Given the description of an element on the screen output the (x, y) to click on. 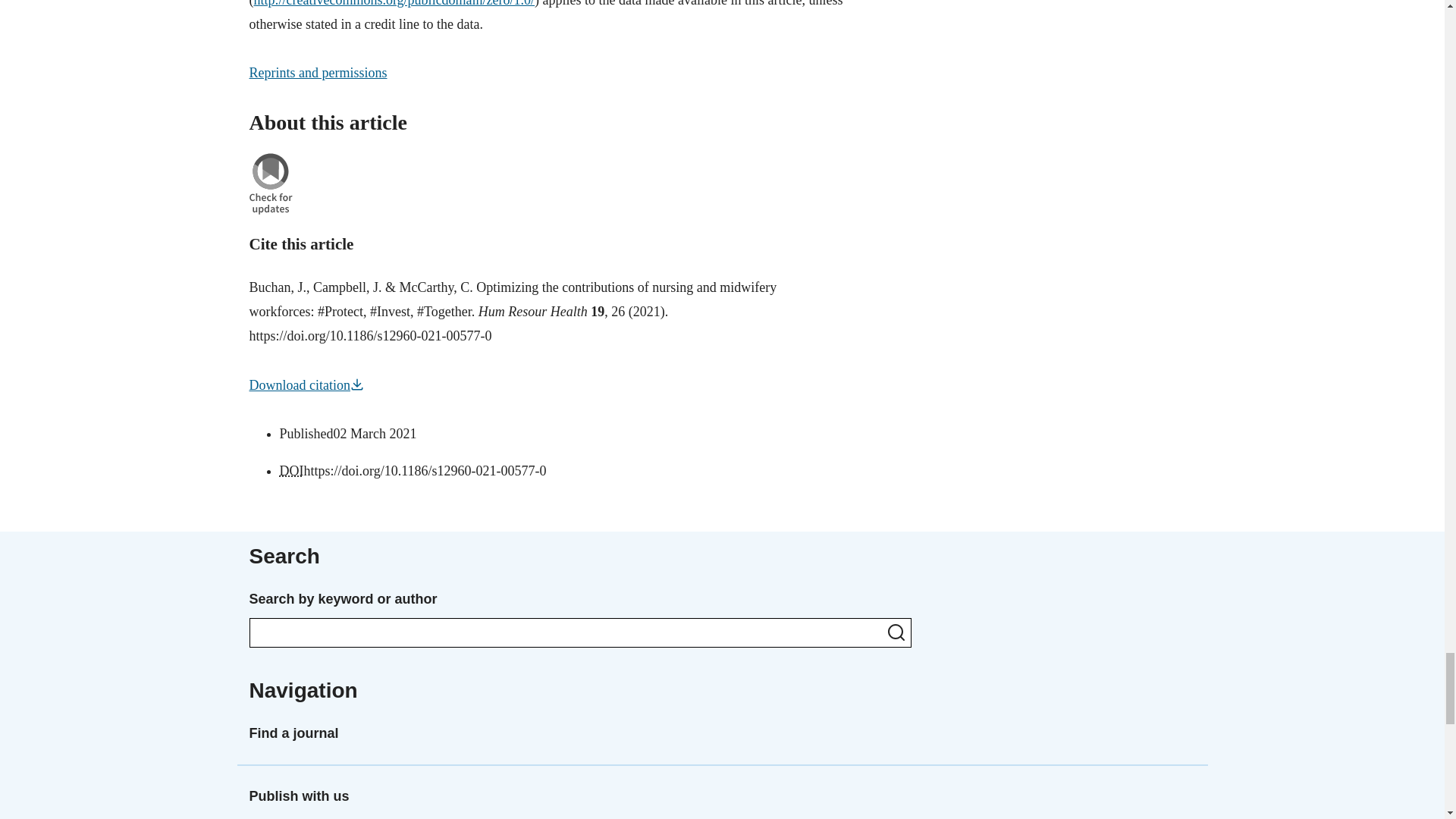
Digital Object Identifier (290, 469)
